Given the description of an element on the screen output the (x, y) to click on. 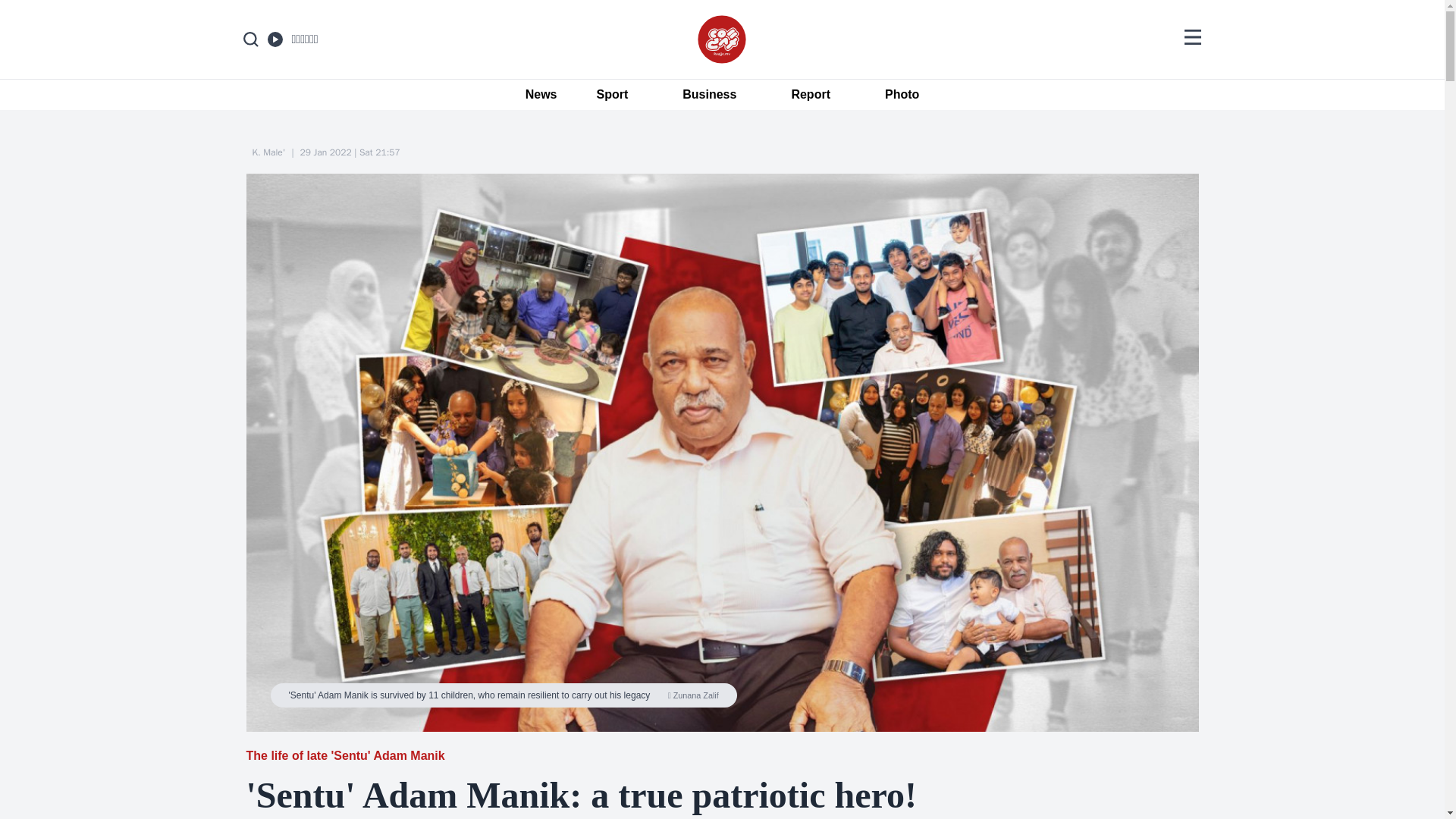
Photo (901, 94)
Report (810, 94)
Sport (611, 94)
Business (708, 94)
News (534, 94)
